Given the description of an element on the screen output the (x, y) to click on. 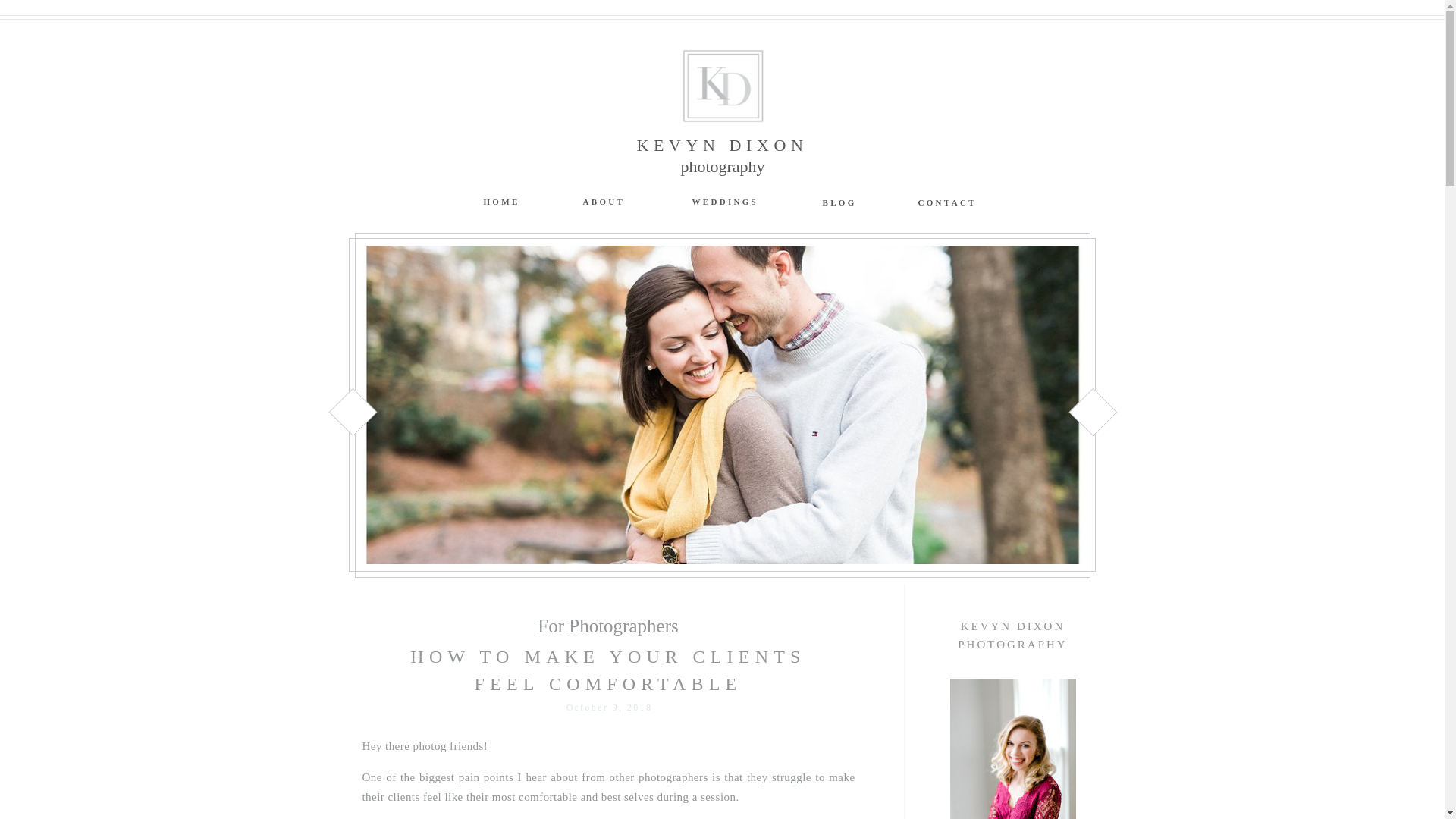
BLOG (837, 202)
CONTACT (946, 202)
HOME (500, 201)
For Photographers (607, 625)
ABOUT (601, 201)
WEDDINGS (722, 201)
KEVYN DIXON (721, 142)
photography (722, 168)
